Given the description of an element on the screen output the (x, y) to click on. 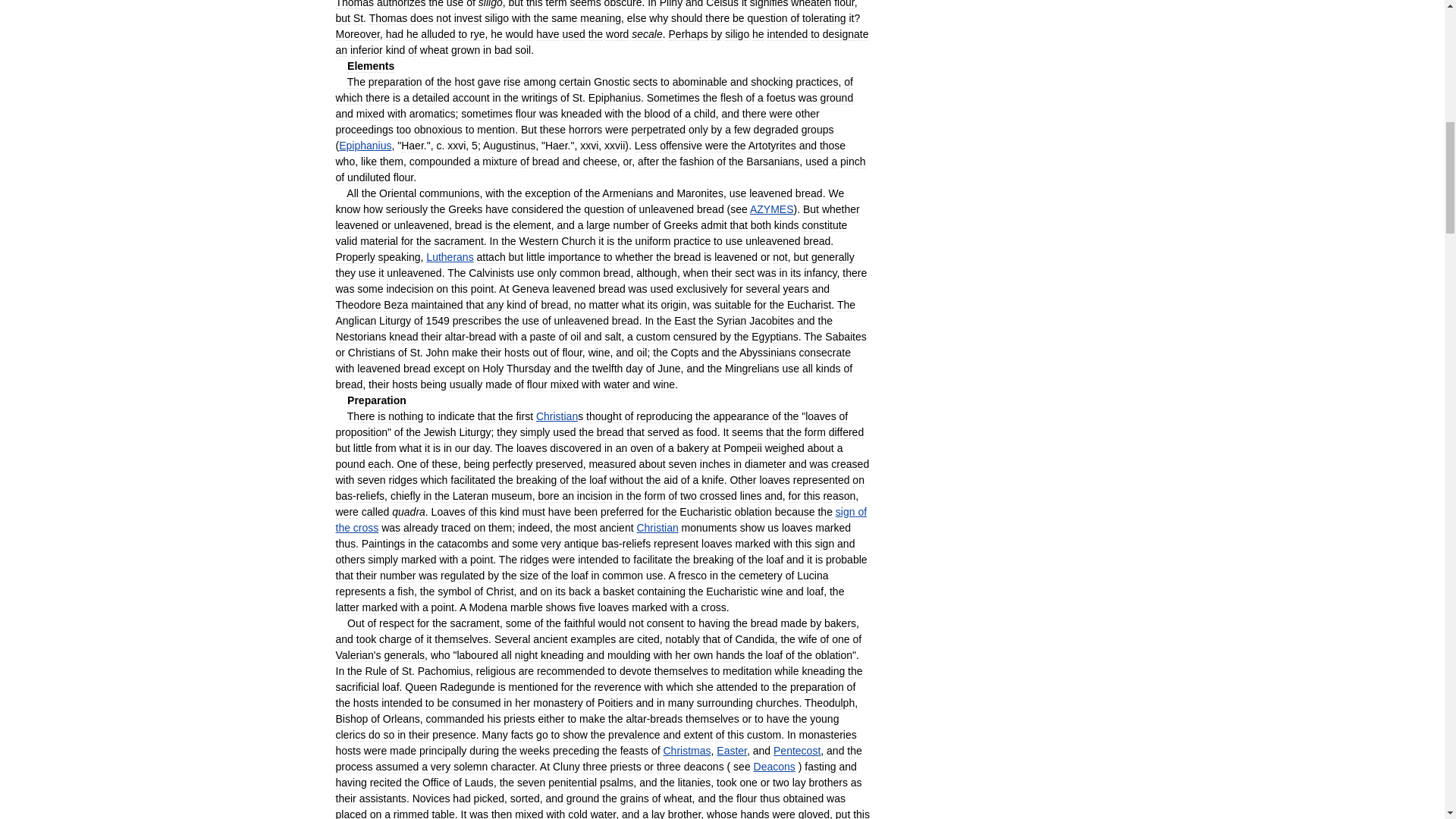
Epiphanius (365, 145)
AZYMES (771, 209)
sign of the cross (600, 519)
Christian (556, 416)
Deacons (774, 766)
Lutherans (449, 256)
Pentecost (797, 750)
Easter (731, 750)
Christmas (686, 750)
Christian (657, 527)
